Given the description of an element on the screen output the (x, y) to click on. 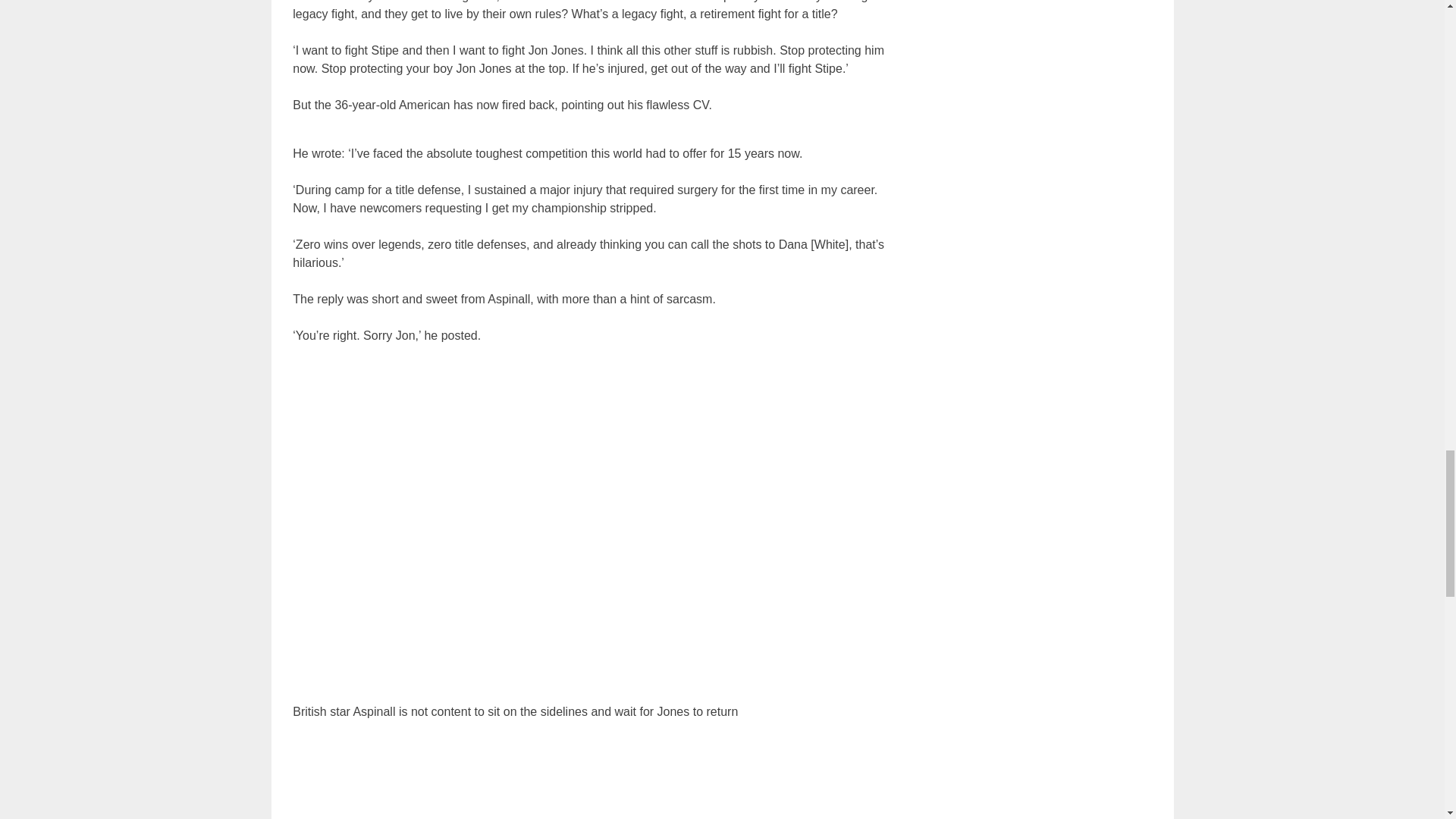
Advertisement (598, 779)
